Given the description of an element on the screen output the (x, y) to click on. 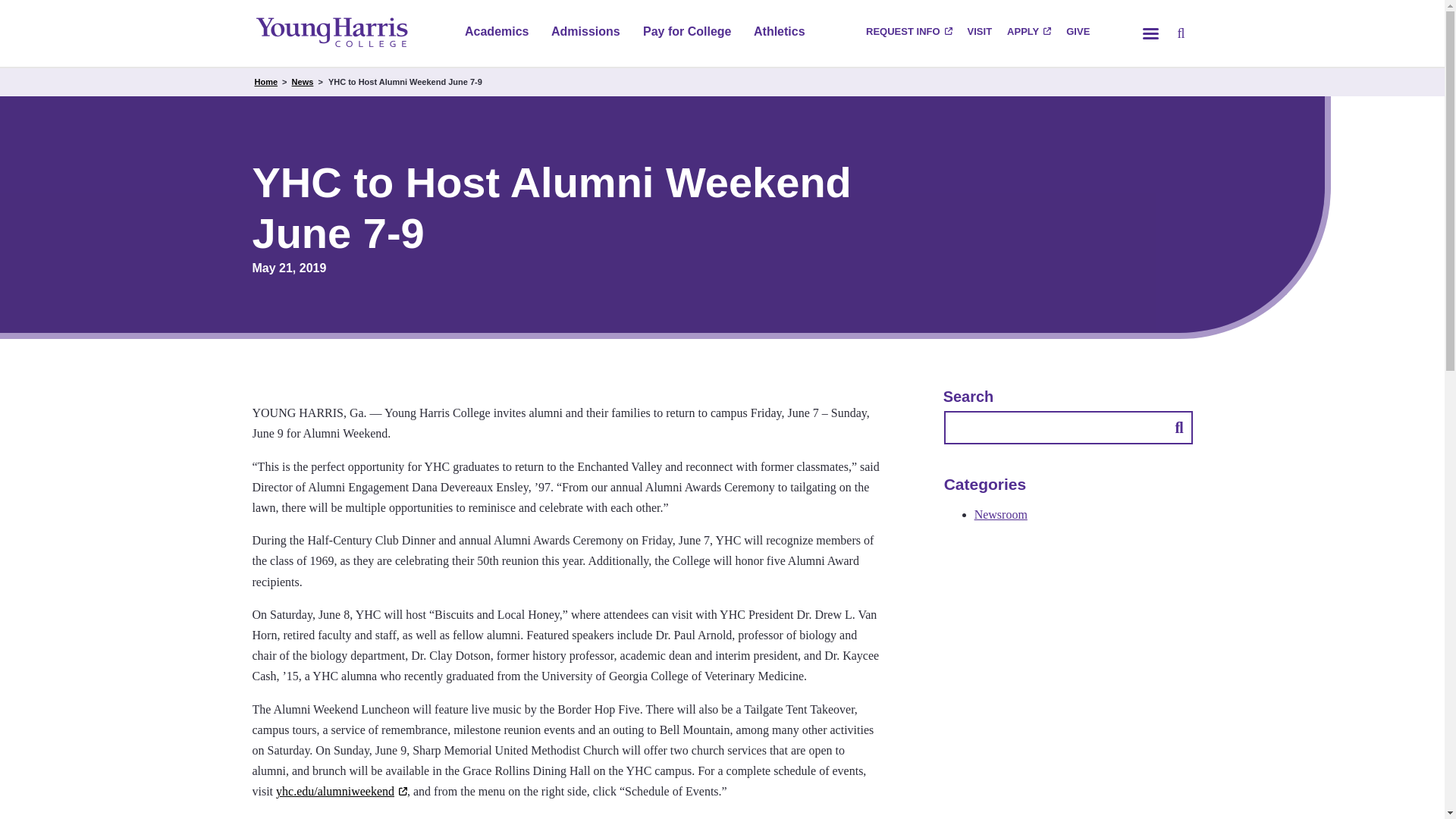
Search (1180, 33)
Pay for College (686, 32)
APPLY (1028, 33)
Athletics (779, 32)
VISIT (979, 33)
REQUEST INFO (909, 33)
Menu (1149, 33)
GIVE (1077, 33)
Admissions (585, 32)
Academics (496, 32)
